Given the description of an element on the screen output the (x, y) to click on. 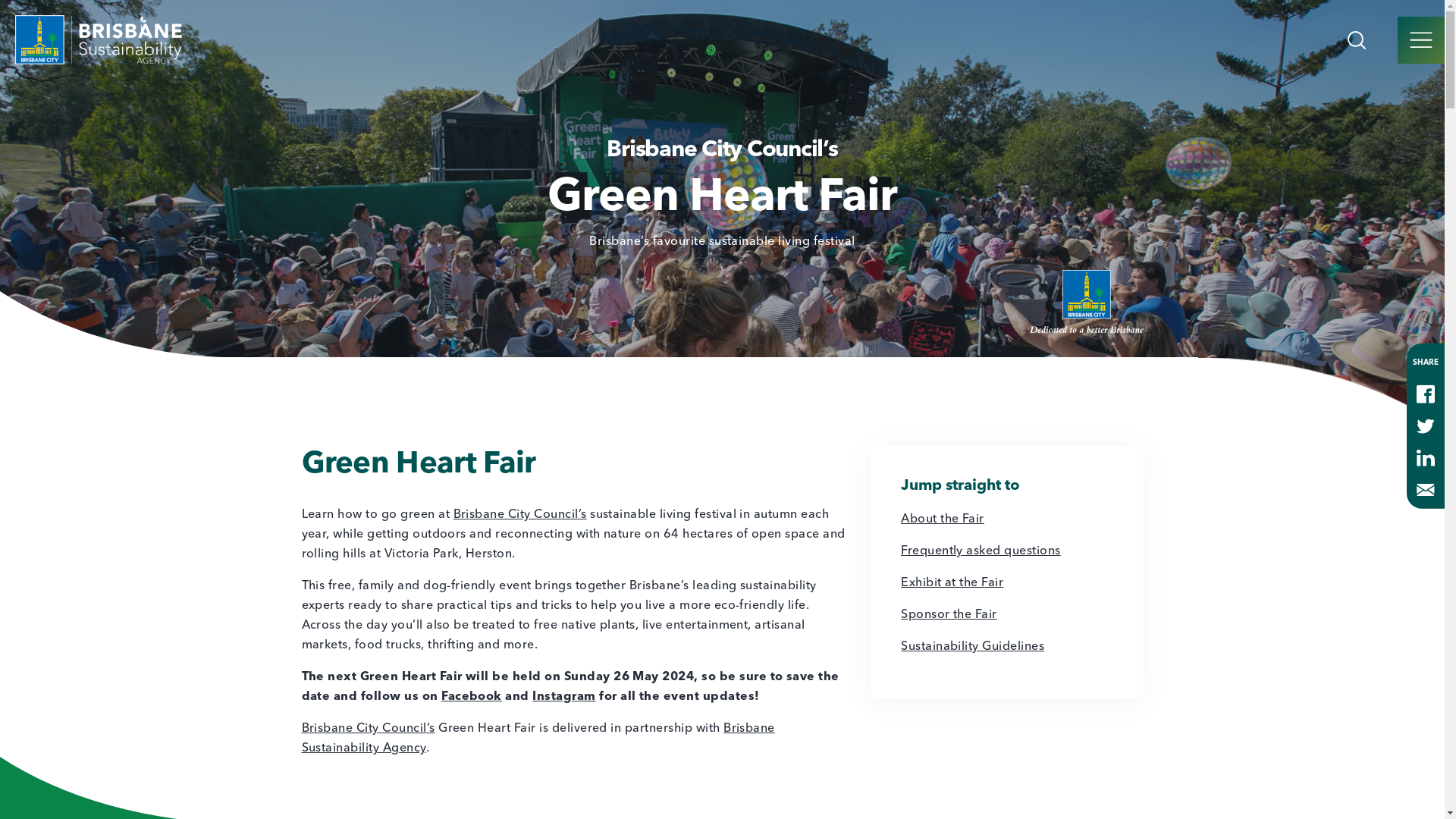
Instagram Element type: text (563, 696)
Facebook Element type: text (471, 696)
Exhibit at the Fair Element type: text (951, 583)
Frequently asked questions Element type: text (980, 551)
Sponsor the Fair Element type: text (948, 614)
About the Fair Element type: text (942, 519)
Sustainability Guidelines Element type: text (972, 646)
Brisbane Sustainability Agency Element type: text (538, 738)
